Given the description of an element on the screen output the (x, y) to click on. 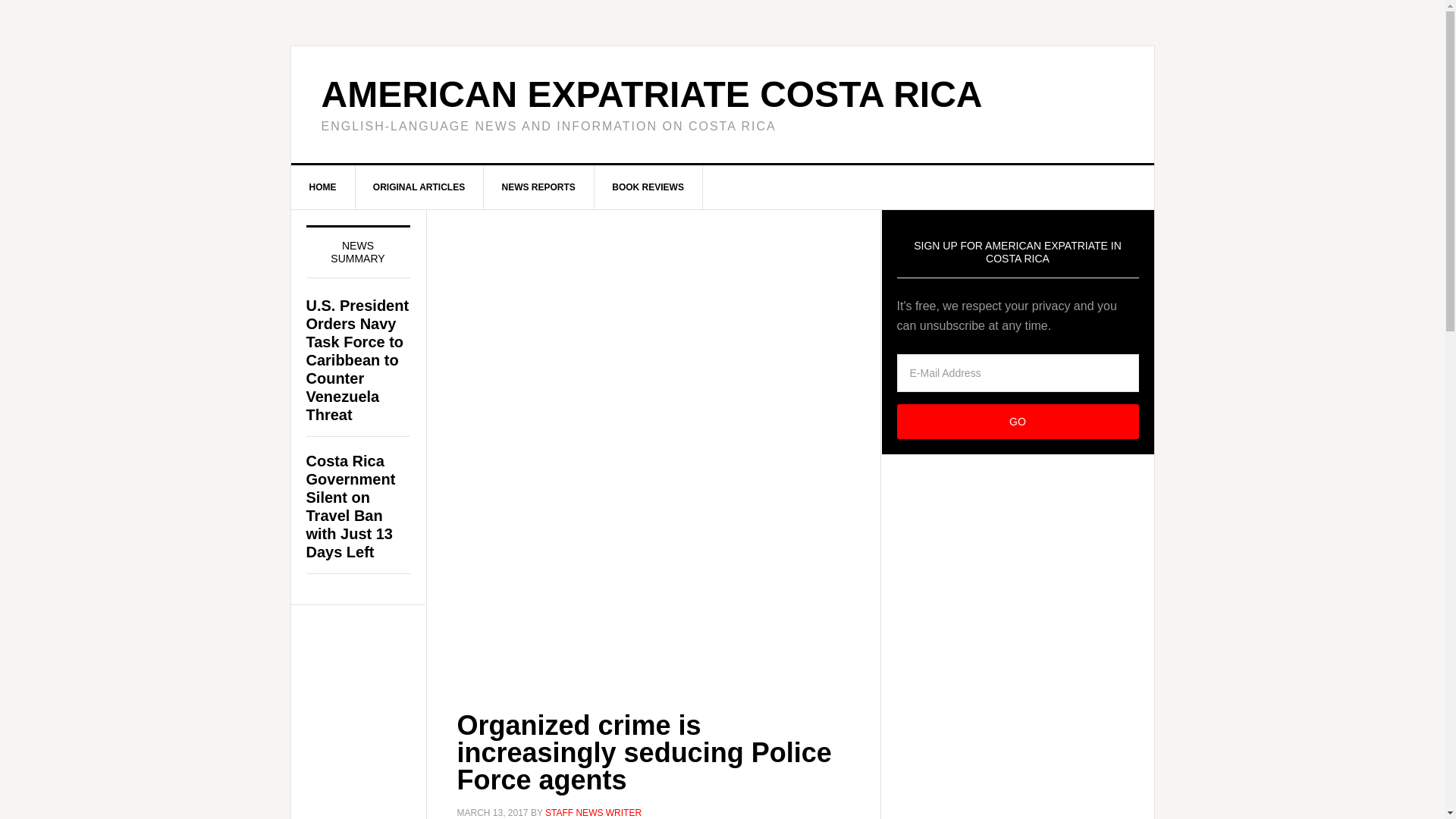
Go (1017, 421)
BOOK REVIEWS (648, 187)
Go (1017, 421)
STAFF NEWS WRITER (593, 812)
NEWS REPORTS (538, 187)
Advertisement (652, 551)
HOME (323, 187)
AMERICAN EXPATRIATE COSTA RICA (651, 94)
ORIGINAL ARTICLES (419, 187)
